Given the description of an element on the screen output the (x, y) to click on. 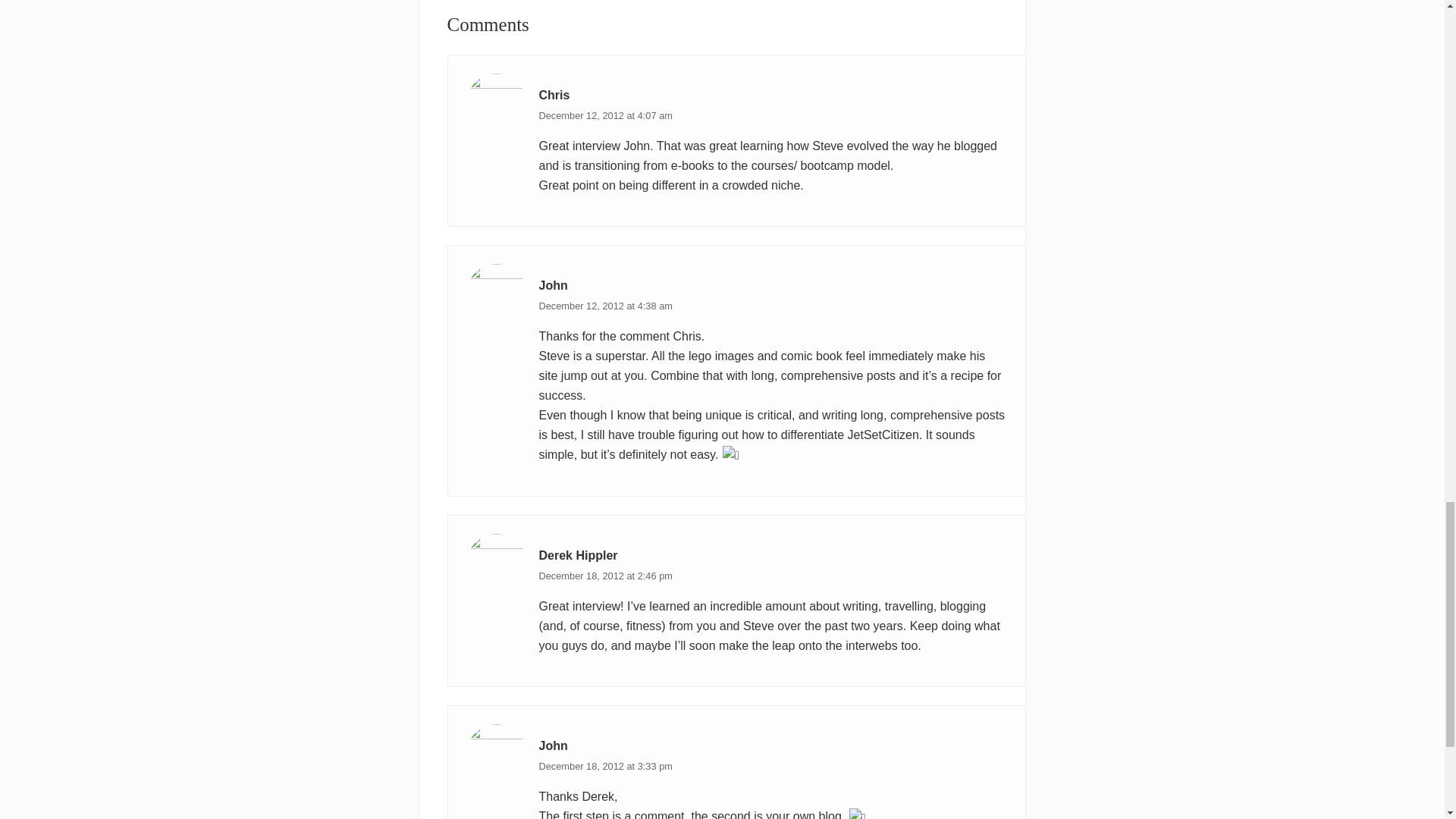
Chris (553, 94)
John (552, 745)
December 18, 2012 at 3:33 pm (604, 766)
John (552, 285)
December 12, 2012 at 4:38 am (604, 306)
December 18, 2012 at 2:46 pm (604, 575)
December 12, 2012 at 4:07 am (604, 115)
